Given the description of an element on the screen output the (x, y) to click on. 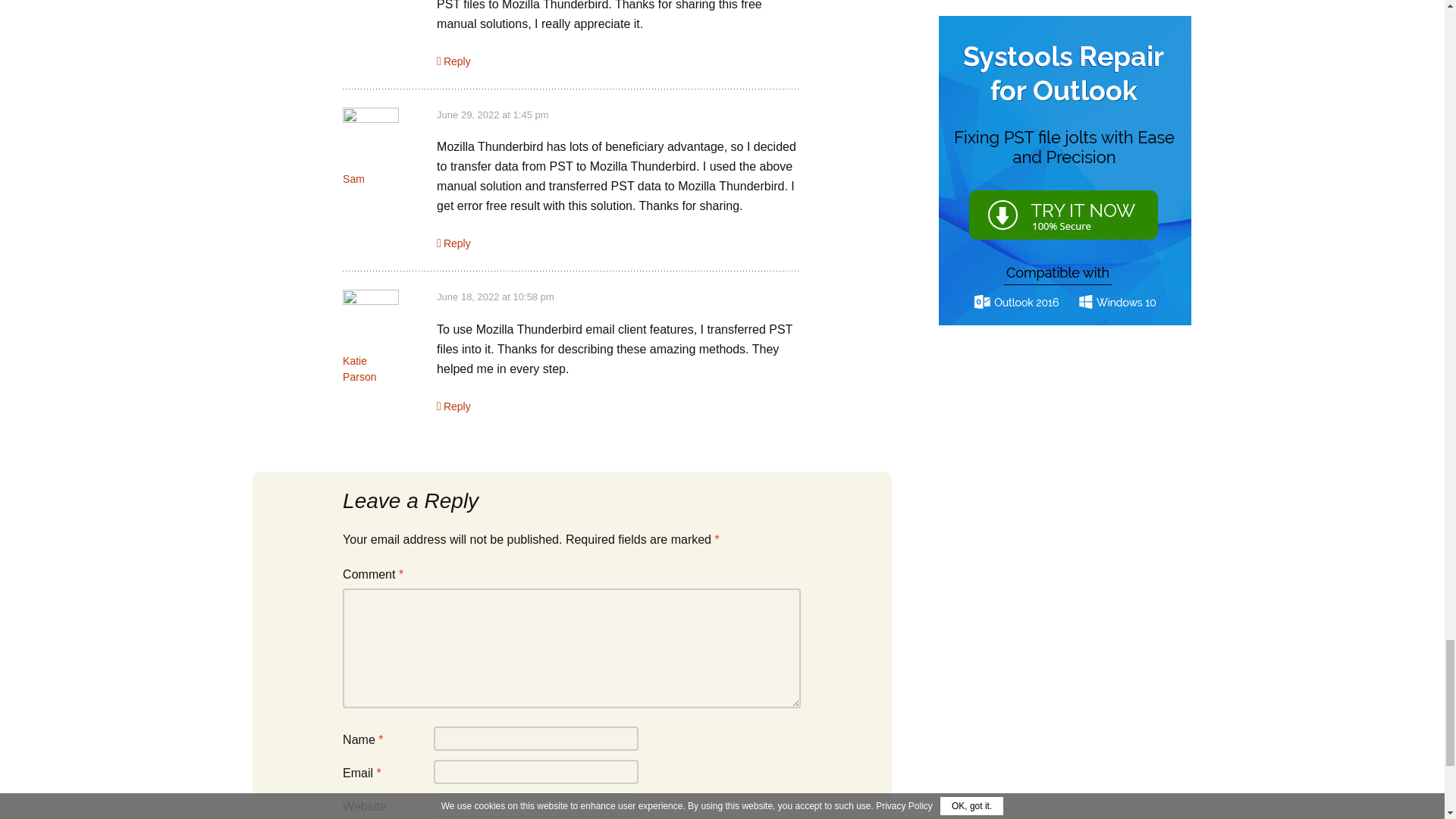
June 29, 2022 at 1:45 pm (492, 114)
Reply (453, 406)
Reply (453, 243)
June 18, 2022 at 10:58 pm (495, 296)
Reply (453, 61)
